Given the description of an element on the screen output the (x, y) to click on. 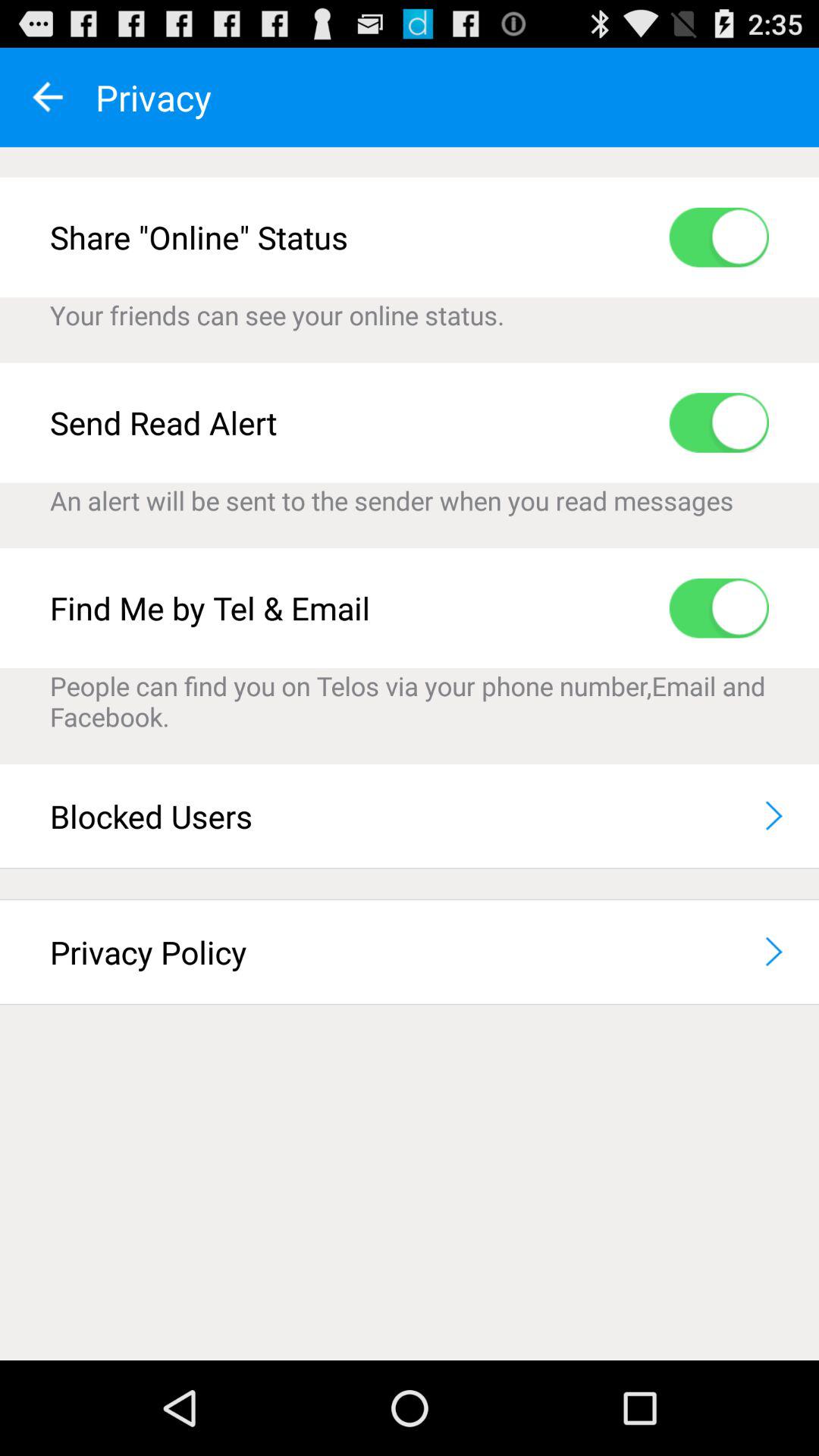
turn on the icon above an alert will icon (718, 422)
